Given the description of an element on the screen output the (x, y) to click on. 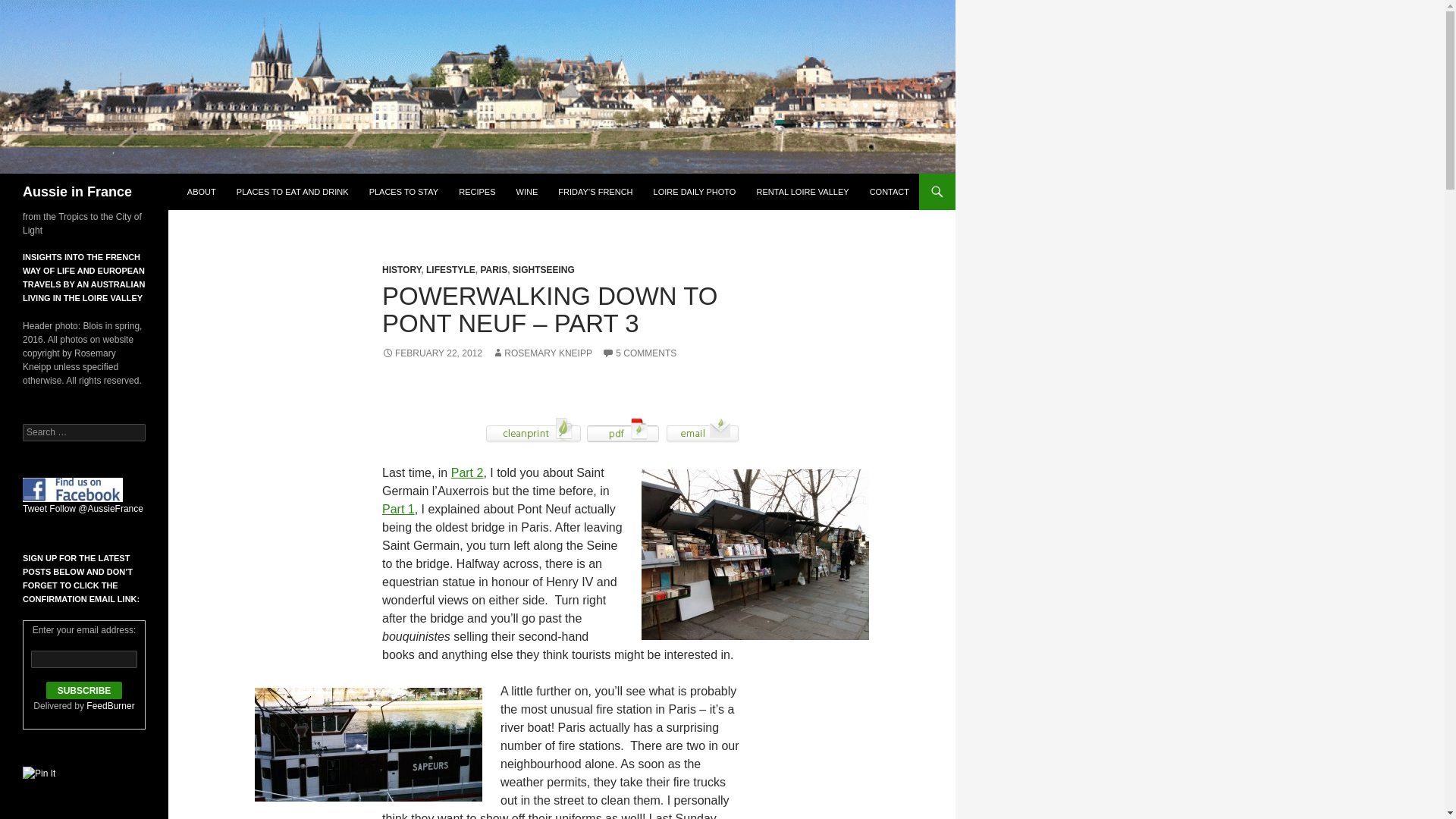
PLACES TO STAY (403, 191)
PDF page (623, 429)
RENTAL LOIRE VALLEY (803, 191)
CONTACT (889, 191)
5 COMMENTS (639, 353)
Part 2 (467, 472)
SIGHTSEEING (543, 269)
RECIPES (476, 191)
Email page (702, 429)
PLACES TO EAT AND DRINK (292, 191)
PARIS (493, 269)
ROSEMARY KNEIPP (542, 353)
ABOUT (201, 191)
WINE (526, 191)
Subscribe (84, 690)
